Given the description of an element on the screen output the (x, y) to click on. 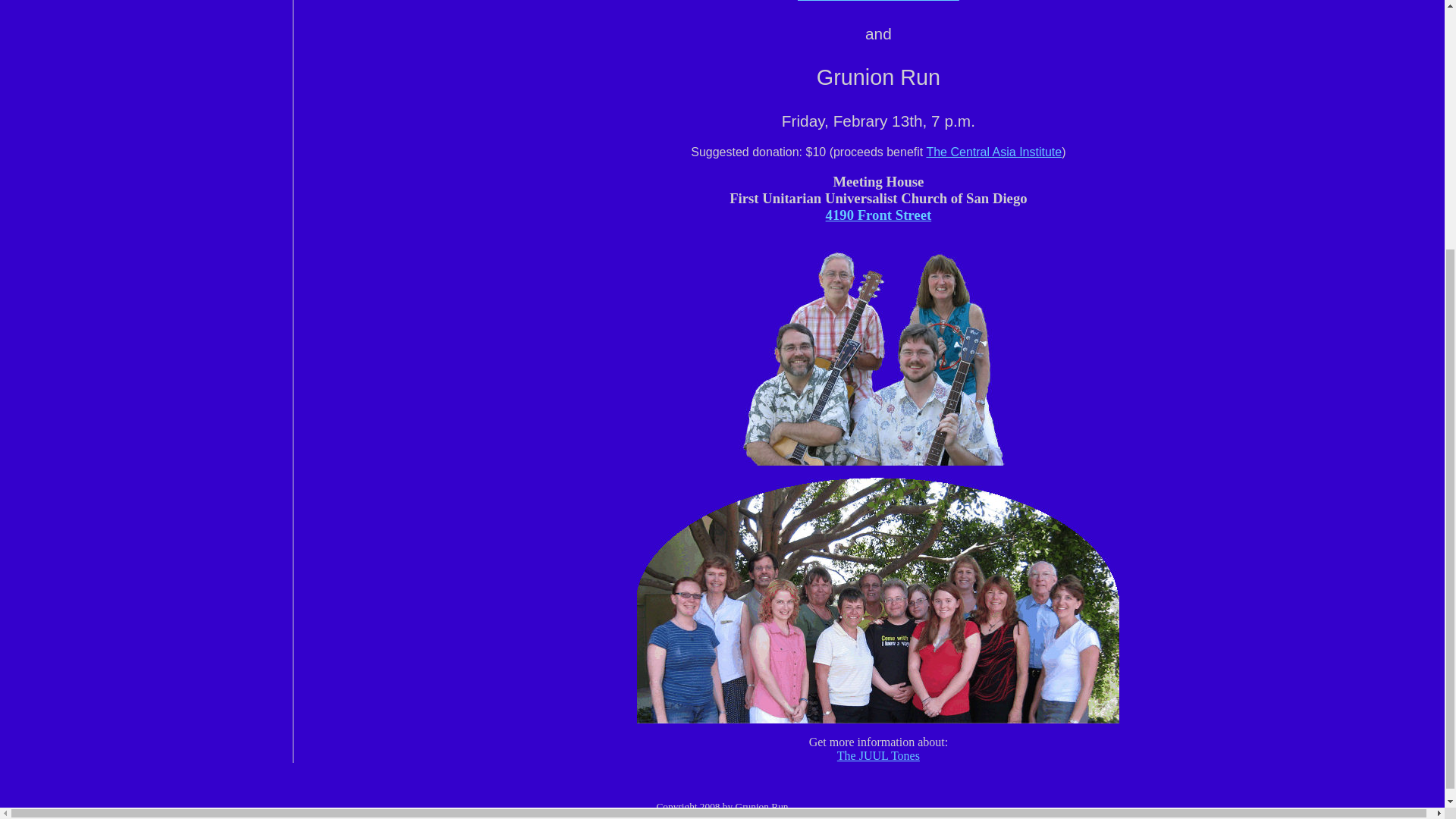
4190 Front Street (878, 214)
The JUUL Tones (878, 755)
The JUUL Tones (878, 1)
The Central Asia Institute (993, 151)
